Given the description of an element on the screen output the (x, y) to click on. 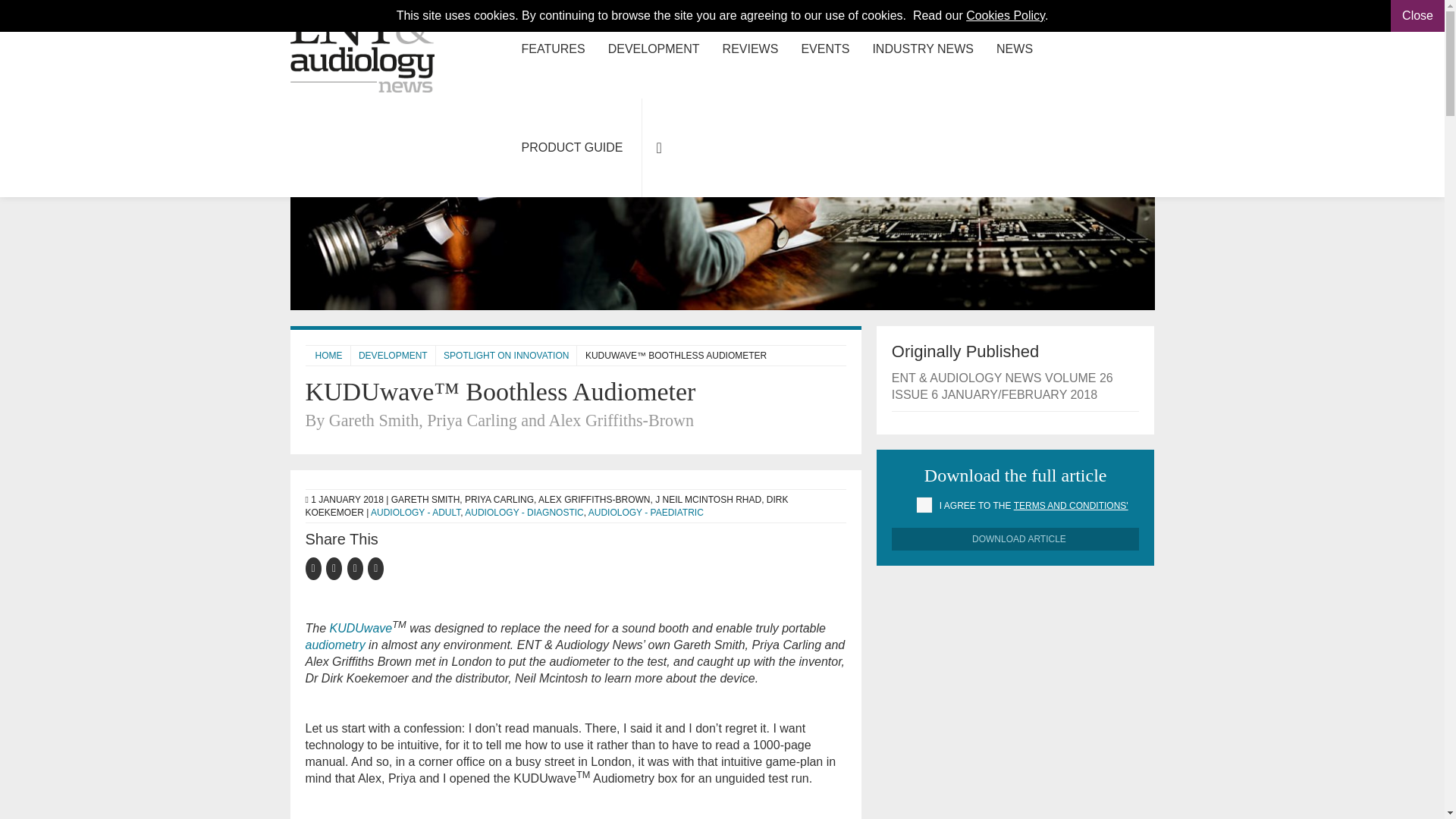
KUDUwave (361, 627)
HOME (328, 355)
audiometry (334, 644)
PRODUCT GUIDE (571, 147)
On LinkedIn (357, 567)
DEVELOPMENT (653, 49)
On Facebook (315, 567)
On Twitter (336, 567)
INDUSTRY NEWS (922, 49)
Cookies Policy (1005, 15)
On Reddit (376, 567)
DEVELOPMENT (393, 355)
AUDIOLOGY - ADULT (415, 511)
AUDIOLOGY - DIAGNOSTIC (523, 511)
SPOTLIGHT ON INNOVATION (506, 355)
